Given the description of an element on the screen output the (x, y) to click on. 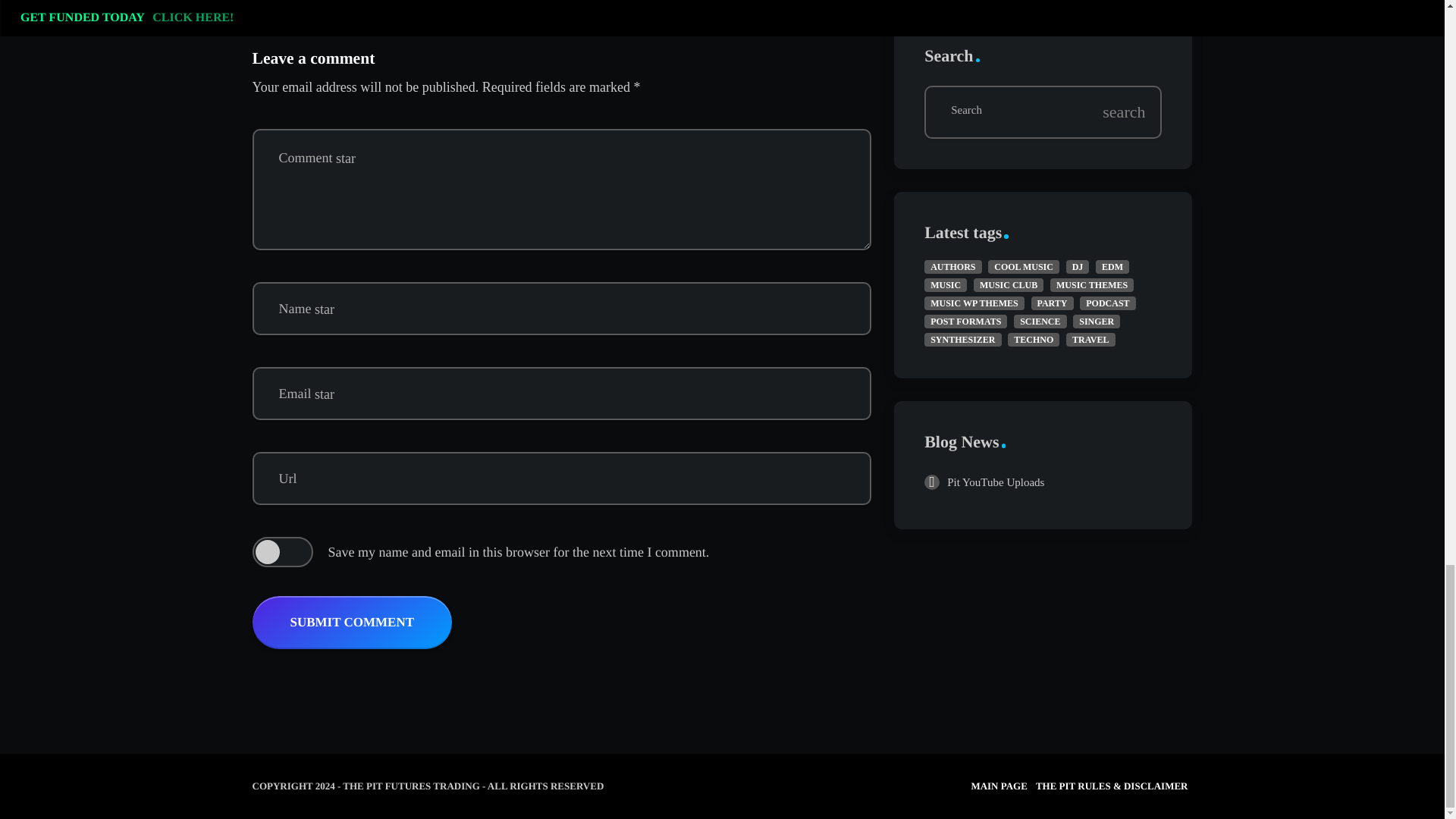
MUSIC (945, 284)
DJ (1077, 266)
MUSIC WP THEMES (974, 303)
EDM (1112, 266)
Submit Comment (351, 622)
PODCAST (1107, 303)
search (1125, 111)
Submit Comment (351, 622)
PARTY (1052, 303)
MUSIC THEMES (1091, 284)
